Given the description of an element on the screen output the (x, y) to click on. 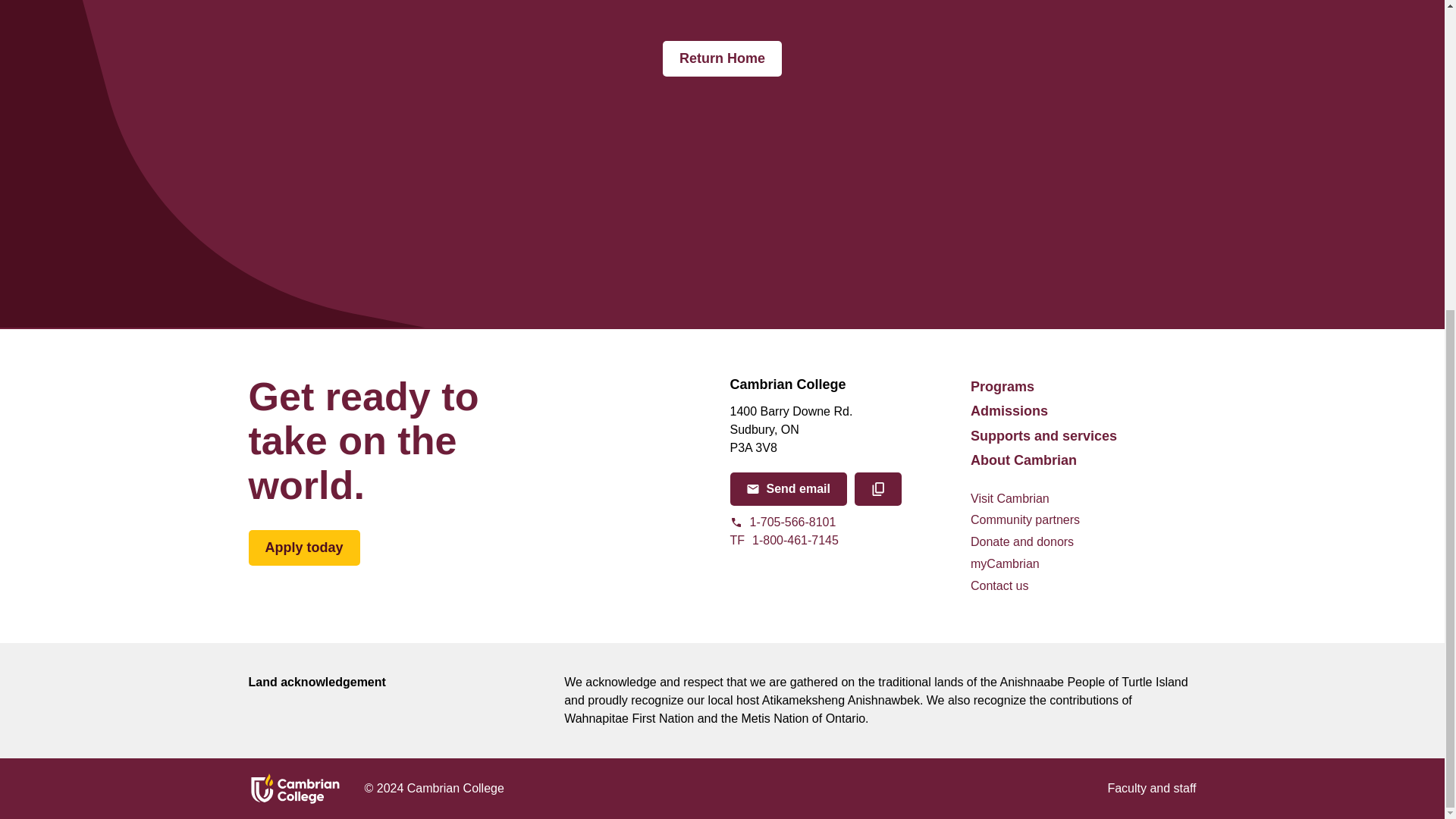
Send email (842, 540)
Visit Cambrian (787, 489)
Return Home (1010, 499)
Supports and services (721, 58)
Donate and donors (1043, 435)
Copy email (1022, 542)
Apply today (877, 489)
Admissions (303, 547)
Faculty and staff (1009, 410)
Contact us (1150, 788)
Community partners (999, 586)
Programs (1025, 520)
About Cambrian (1002, 386)
myCambrian (1024, 459)
